Given the description of an element on the screen output the (x, y) to click on. 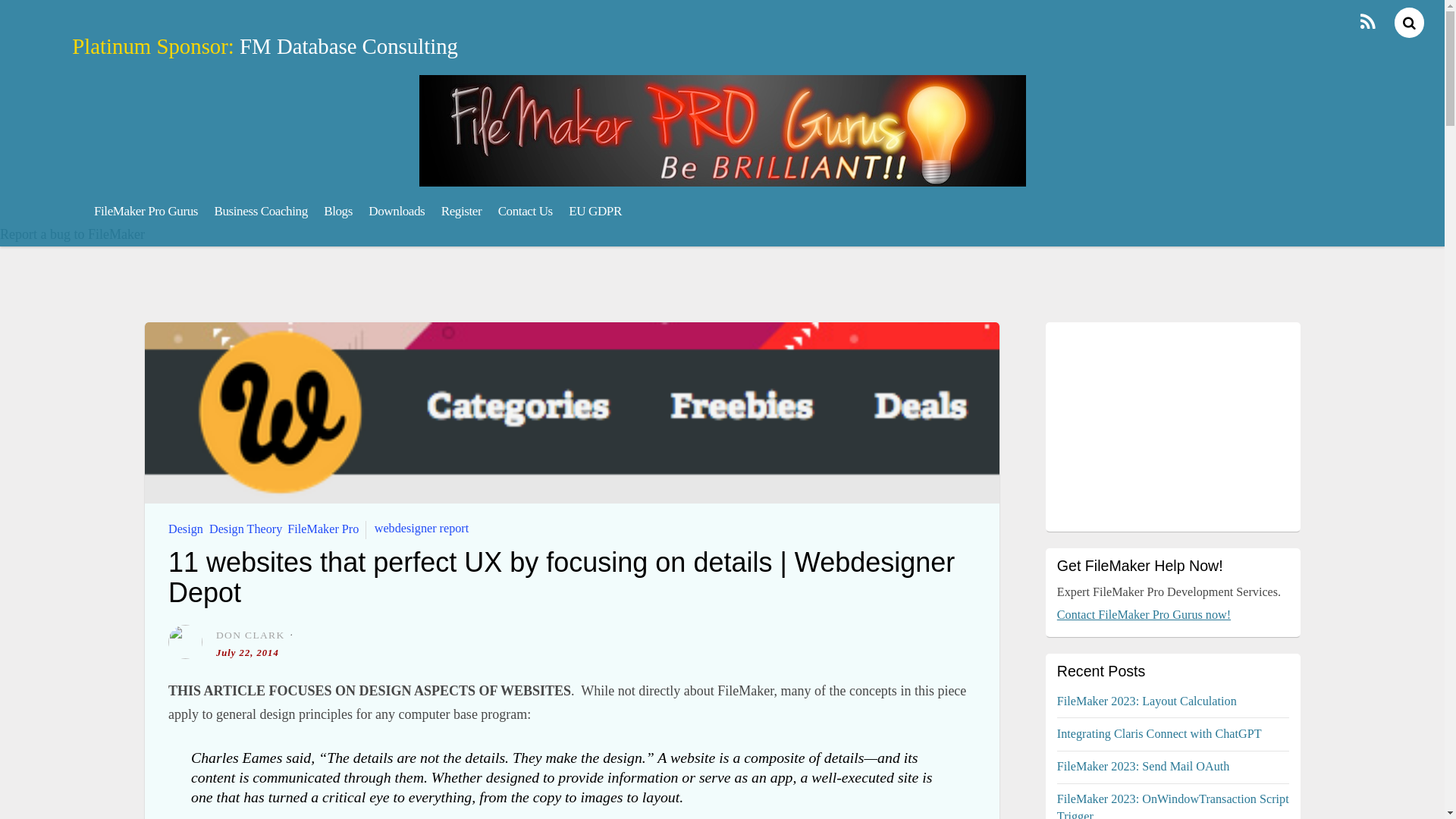
FileMaker Pro Gurus (145, 211)
Advertisement (1172, 426)
Register (460, 211)
FM Database Consulting (349, 46)
Design Theory (245, 528)
FileMaker Pro (322, 528)
Downloads (396, 211)
Contact FileMaker Pro Gurus now! (1143, 614)
webdesigner report (421, 528)
